Given the description of an element on the screen output the (x, y) to click on. 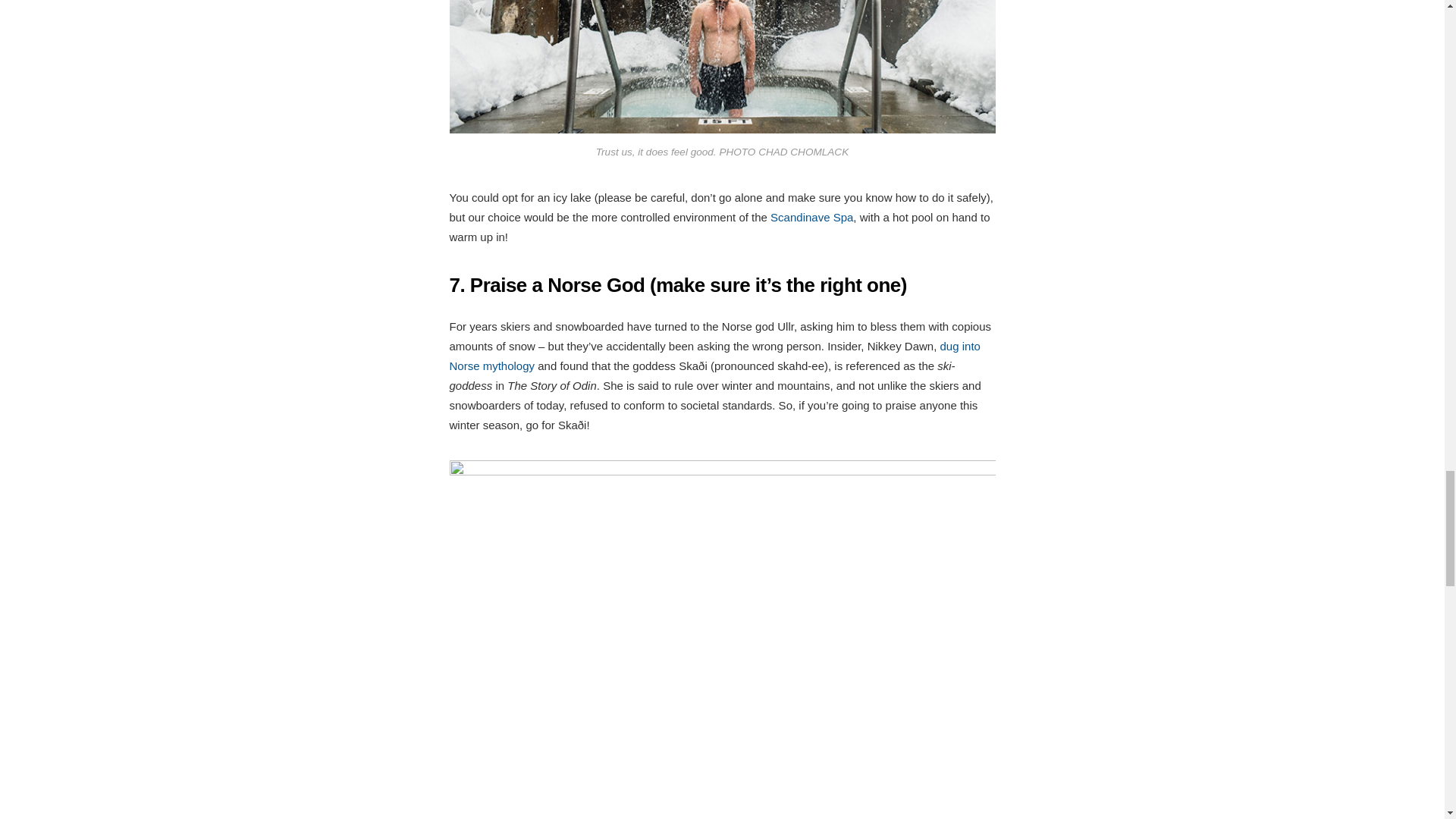
Scandinave Spa (811, 216)
dug into Norse mythology (713, 355)
